Given the description of an element on the screen output the (x, y) to click on. 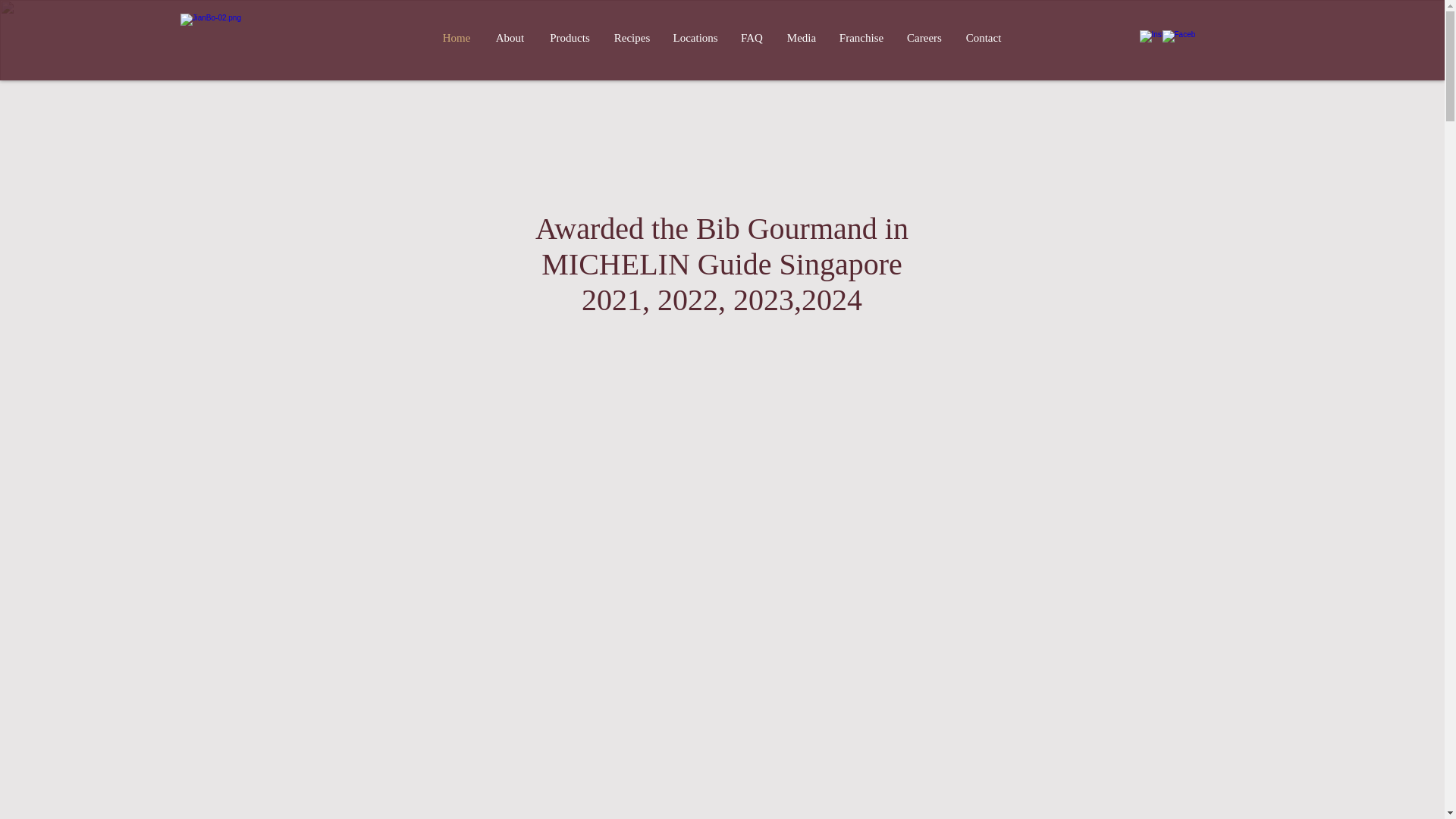
Careers (924, 37)
FAQ (751, 37)
Products (569, 37)
Home (456, 37)
Recipes (631, 37)
Franchise (861, 37)
Contact (983, 37)
About (509, 37)
Locations (694, 37)
Media (800, 37)
